Given the description of an element on the screen output the (x, y) to click on. 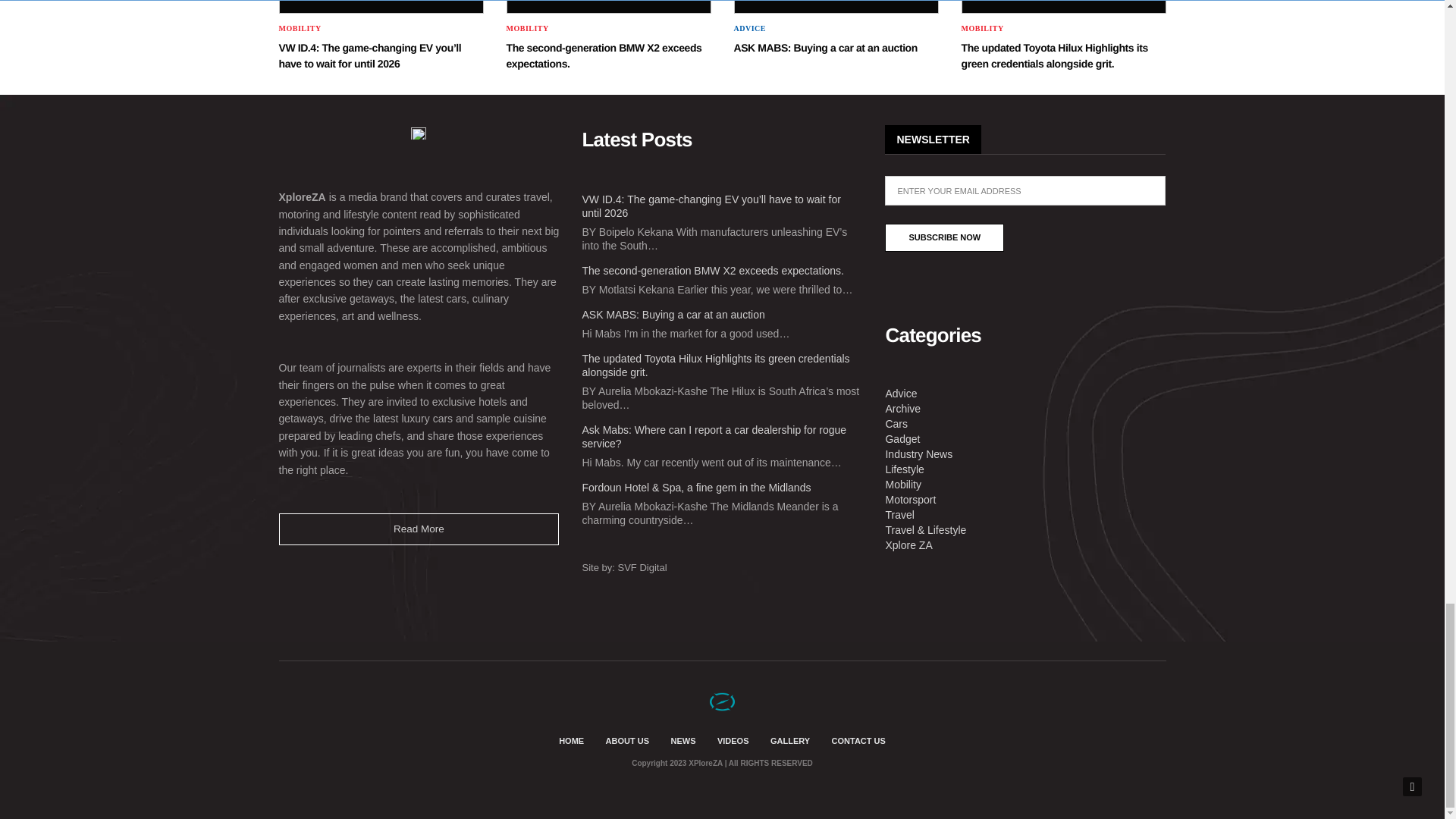
Subscribe Now (944, 237)
ASK MABS: Buying a car at an auction (825, 47)
Mobility (982, 28)
The second-generation BMW X2 exceeds expectations. (608, 6)
Mobility (527, 28)
The second-generation BMW X2 exceeds expectations. (603, 55)
ASK MABS: Buying a car at an auction (836, 6)
Mobility (300, 28)
Advice (749, 28)
